Given the description of an element on the screen output the (x, y) to click on. 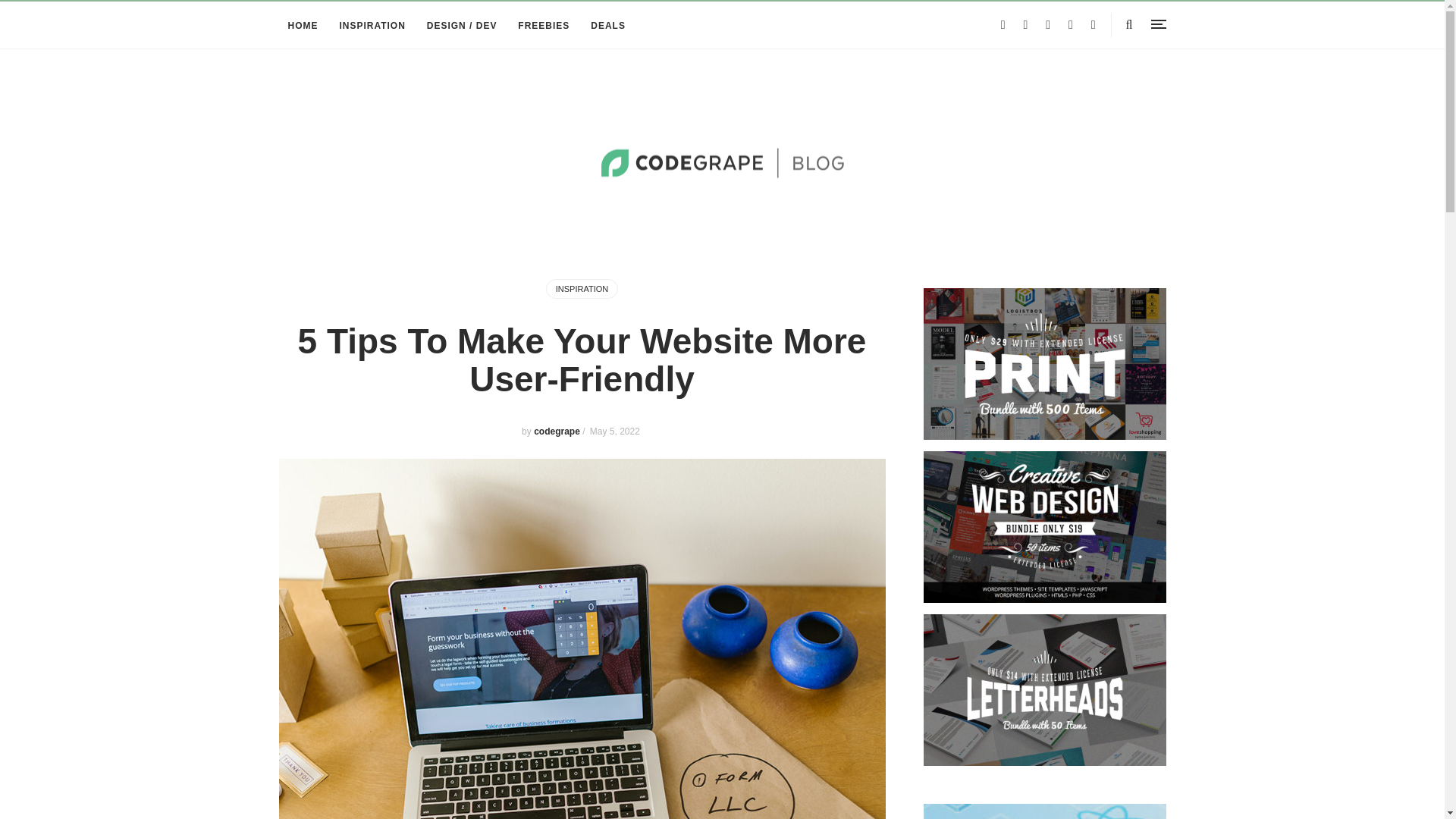
INSPIRATION (371, 25)
codegrape (558, 430)
View all posts in Inspiration (581, 288)
INSPIRATION (581, 288)
DEALS (607, 25)
FREEBIES (543, 25)
5 Tips To Make Your Website More User-Friendly (582, 359)
HOME (303, 25)
